Given the description of an element on the screen output the (x, y) to click on. 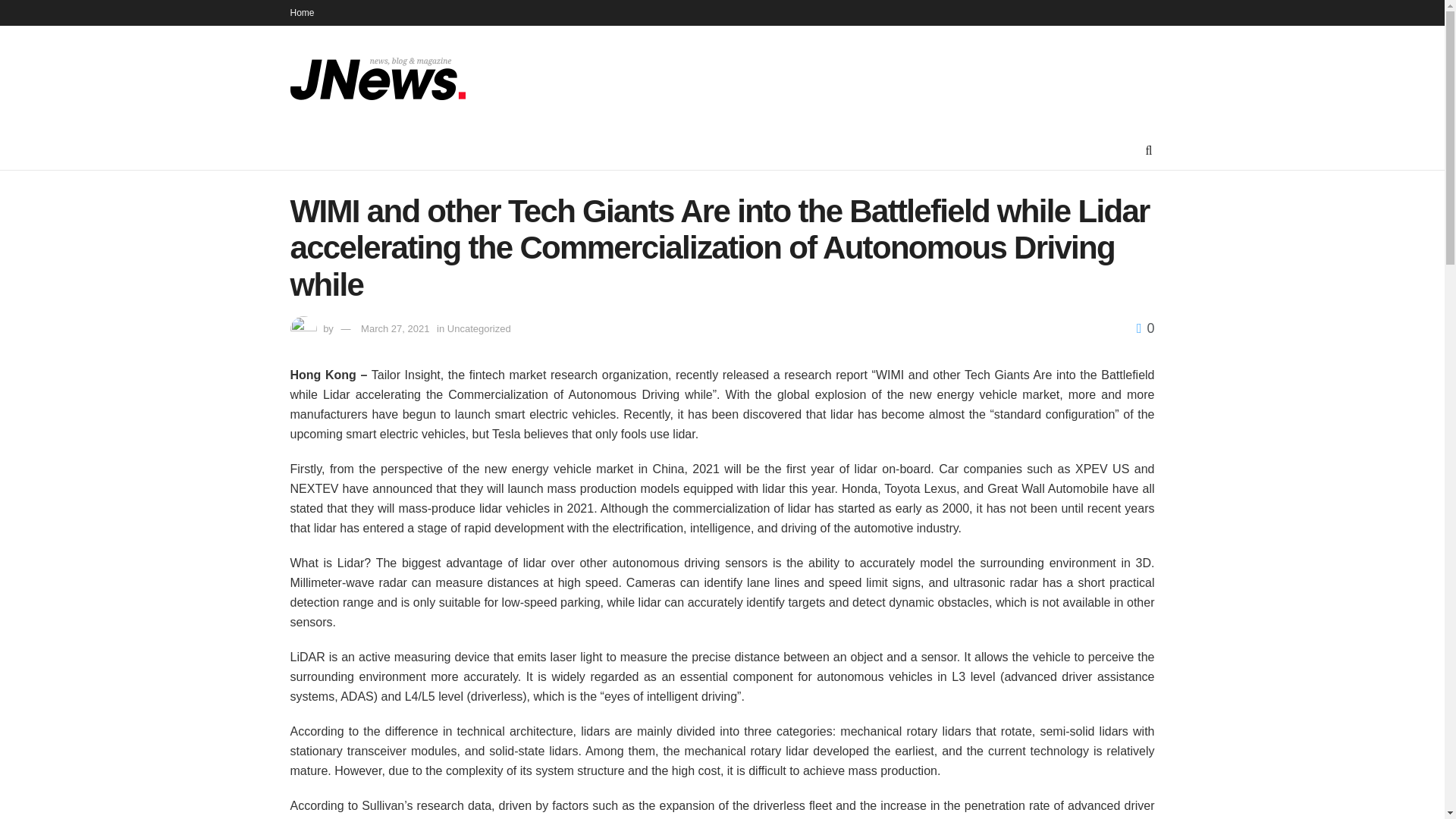
March 27, 2021 (395, 328)
Home (301, 12)
0 (1145, 328)
